Given the description of an element on the screen output the (x, y) to click on. 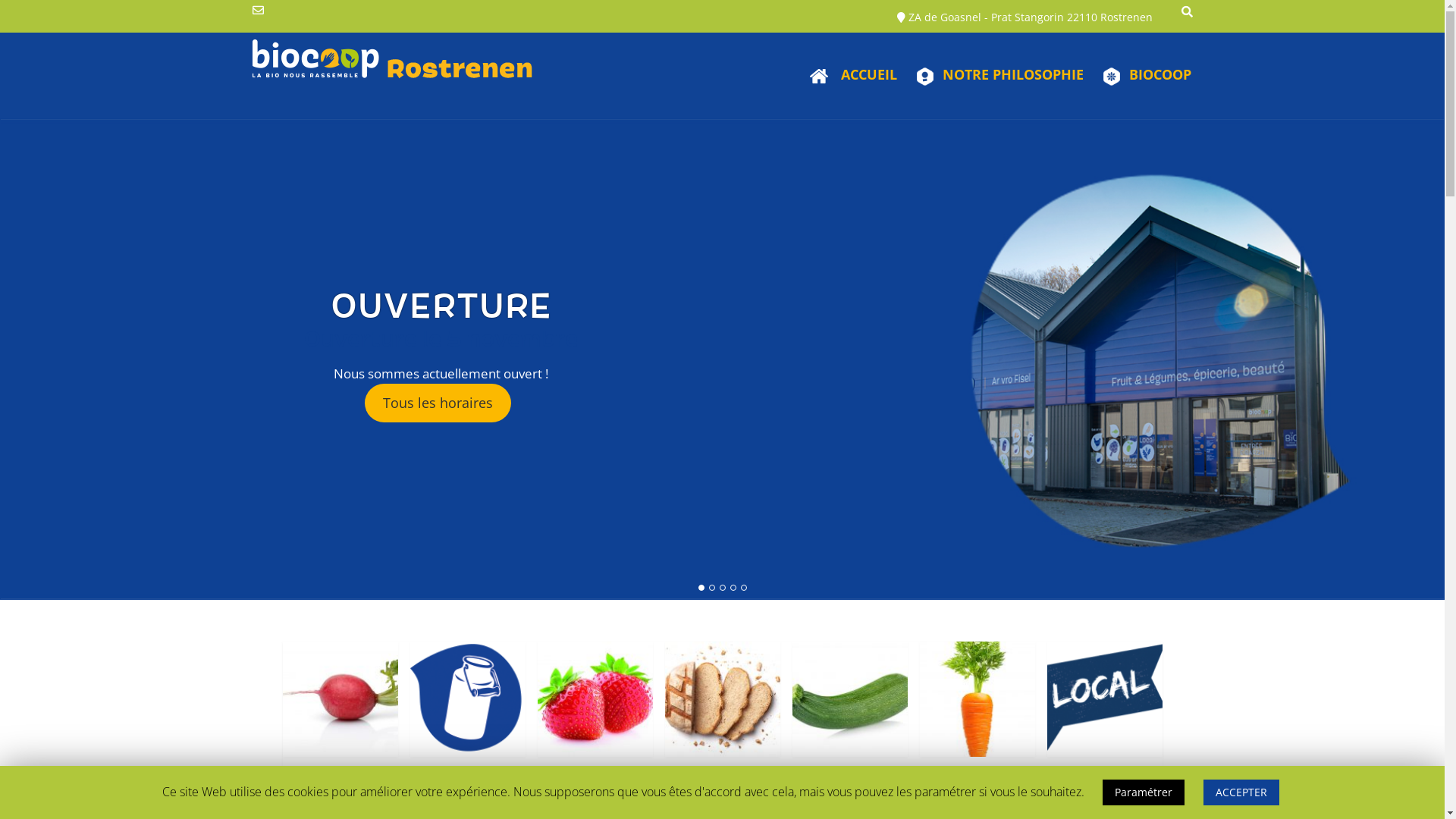
ACCEPTER Element type: text (1240, 792)
Tous les horaires Element type: text (437, 402)
4 Element type: text (733, 586)
ACCUEIL Element type: text (844, 75)
5 Element type: text (743, 586)
3 Element type: text (722, 586)
2 Element type: text (711, 586)
BIOCOOP Element type: text (1139, 75)
Send Us an Email Element type: hover (257, 9)
NOTRE PHILOSOPHIE Element type: text (992, 75)
Skip to content Element type: text (0, 0)
1 Element type: text (701, 586)
